Given the description of an element on the screen output the (x, y) to click on. 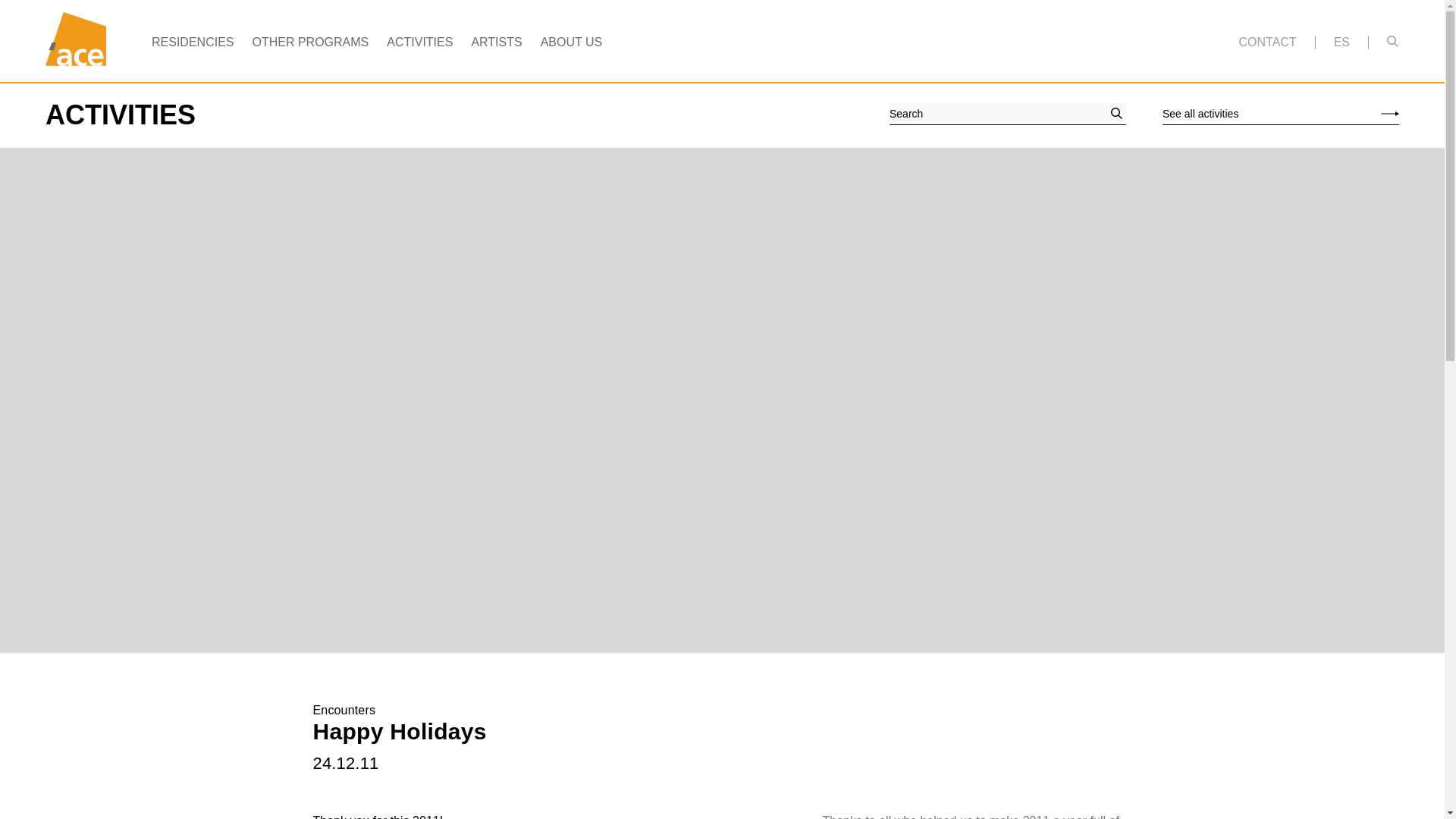
ARTISTS (495, 42)
ES (1341, 42)
OTHER PROGRAMS (309, 42)
RESIDENCIES (191, 42)
See all activities (1280, 114)
ABOUT US (571, 42)
ACTIVITIES (419, 42)
CONTACT (1268, 42)
